Given the description of an element on the screen output the (x, y) to click on. 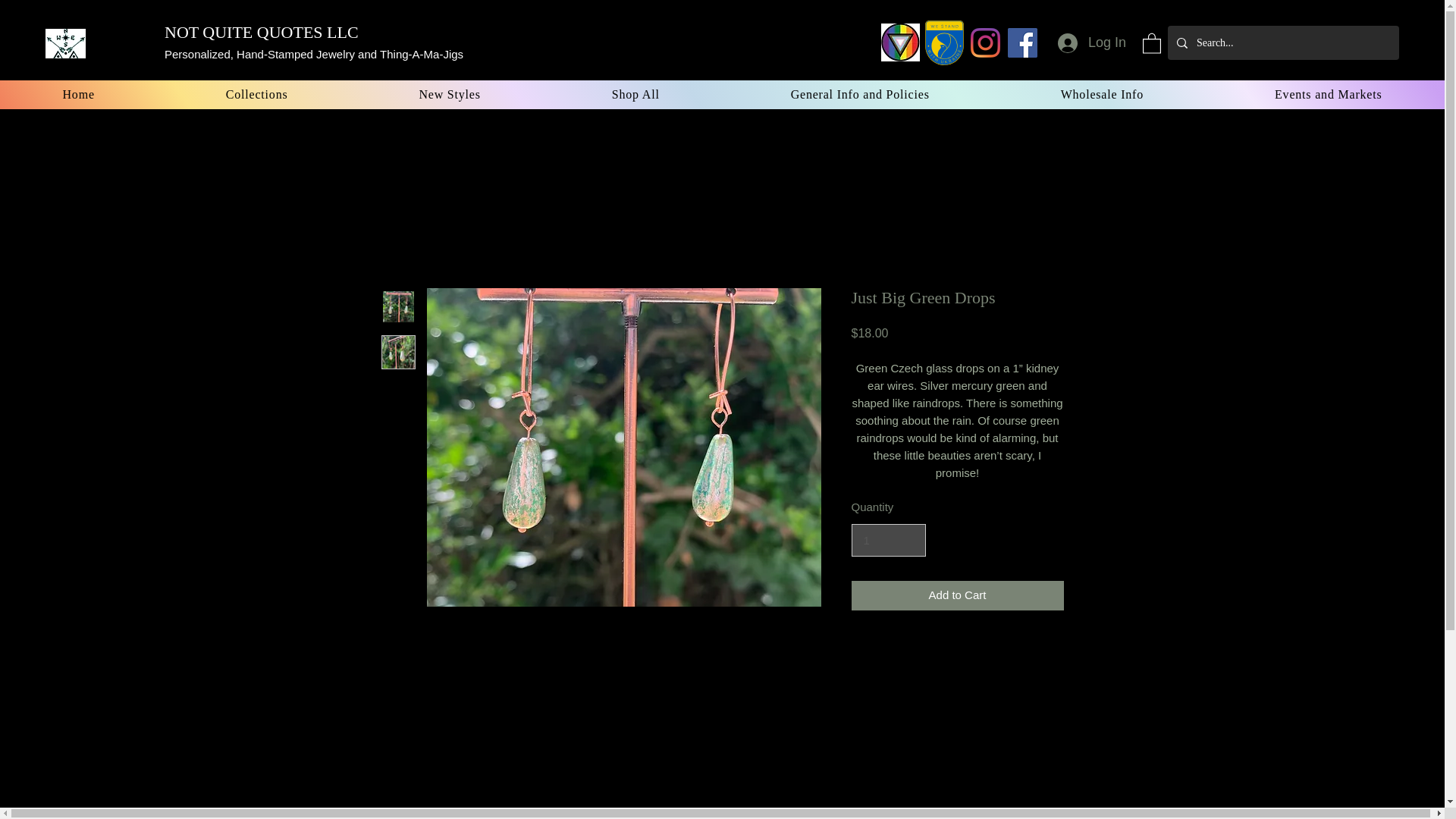
Home (78, 94)
Events and Markets (1328, 94)
New Styles (449, 94)
NOT QUITE QUOTES (243, 31)
Shop All (635, 94)
Log In (1091, 42)
Wholesale Info (1101, 94)
Add to Cart (956, 595)
1 (887, 540)
General Info and Policies (859, 94)
